Given the description of an element on the screen output the (x, y) to click on. 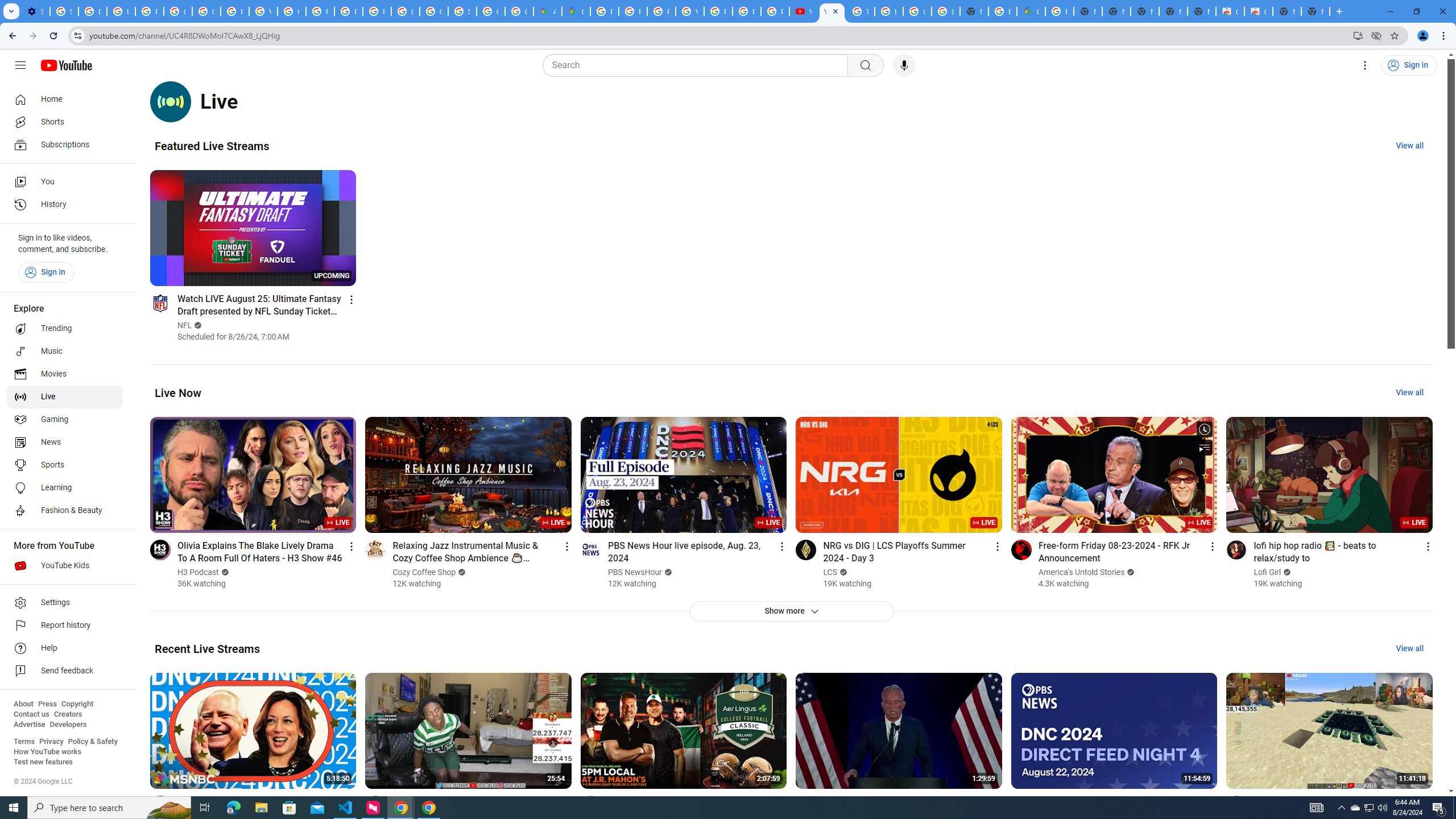
Install YouTube (1358, 35)
Delete photos & videos - Computer - Google Photos Help (92, 11)
Create your Google Account (518, 11)
Show more (790, 610)
Creators (67, 714)
LCS (830, 572)
Sign in - Google Accounts (461, 11)
Google Account Help (178, 11)
Music (64, 350)
Subscriptions (64, 144)
Recent Live Streams (207, 648)
Movies (64, 373)
YouTube (690, 11)
